Given the description of an element on the screen output the (x, y) to click on. 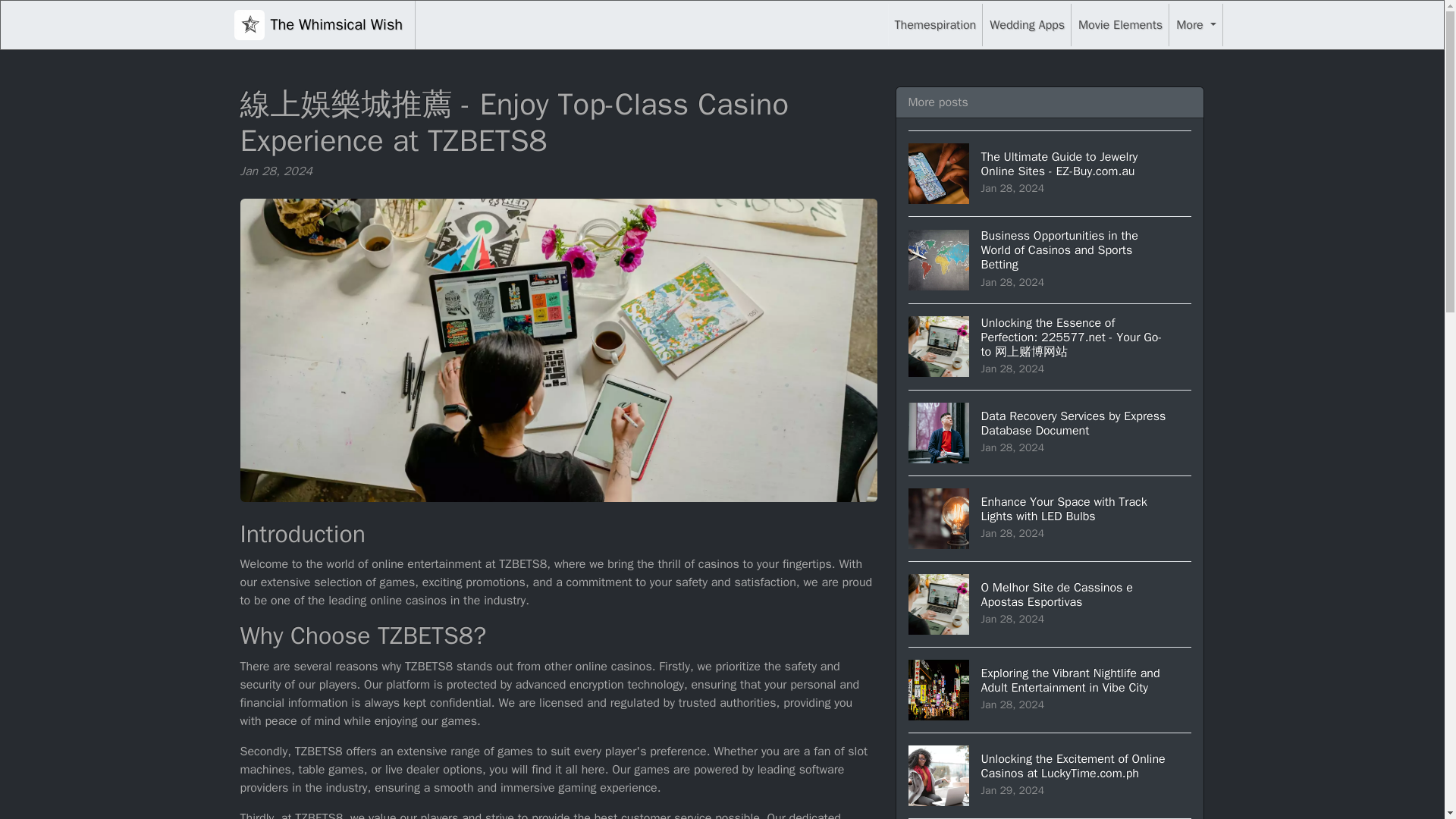
Wedding Apps (1050, 604)
More (1026, 24)
Movie Elements (1196, 24)
